Given the description of an element on the screen output the (x, y) to click on. 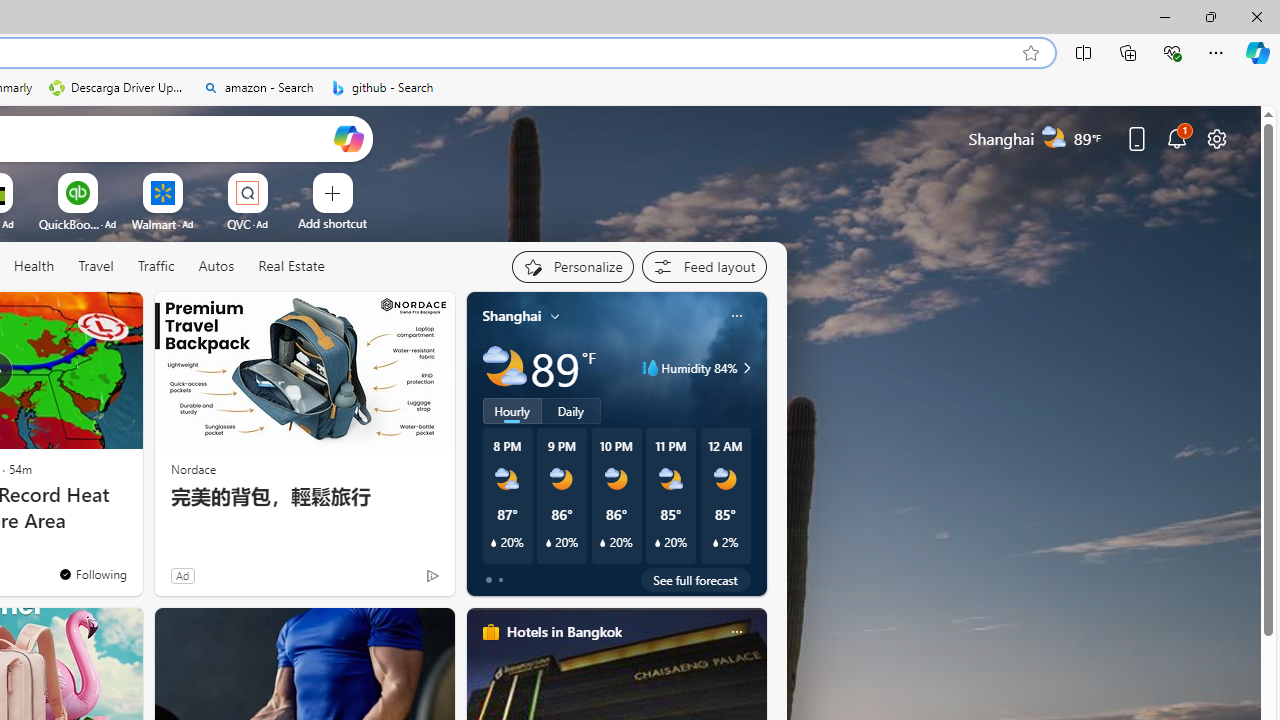
amazon - Search (258, 88)
Health (34, 265)
Real Estate (291, 265)
Ad Choice (432, 575)
Traffic (155, 265)
Traffic (155, 267)
Shanghai (511, 315)
Add a site (332, 223)
